Given the description of an element on the screen output the (x, y) to click on. 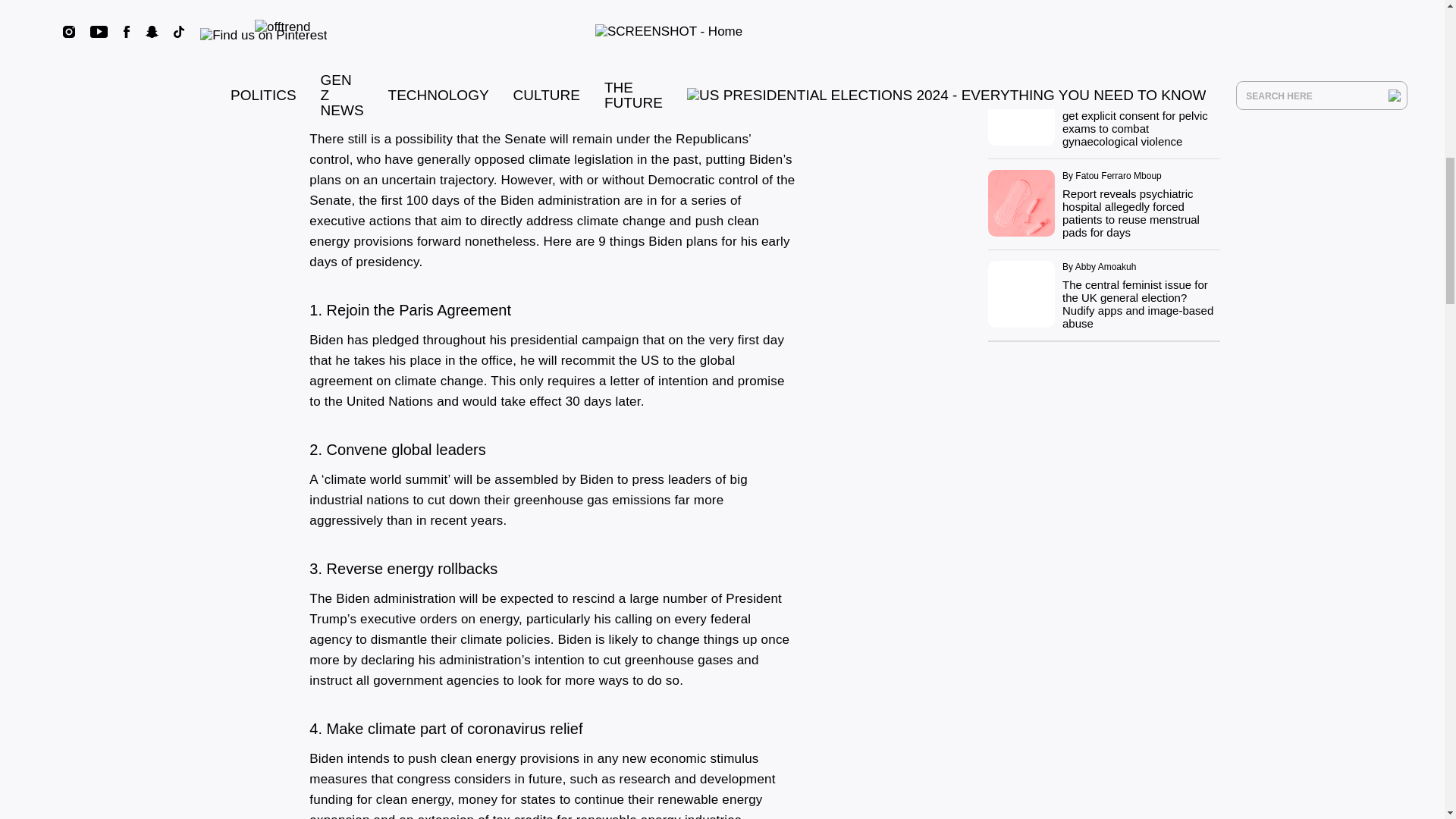
Intergovernmental Panel on Climate Change (439, 67)
